Given the description of an element on the screen output the (x, y) to click on. 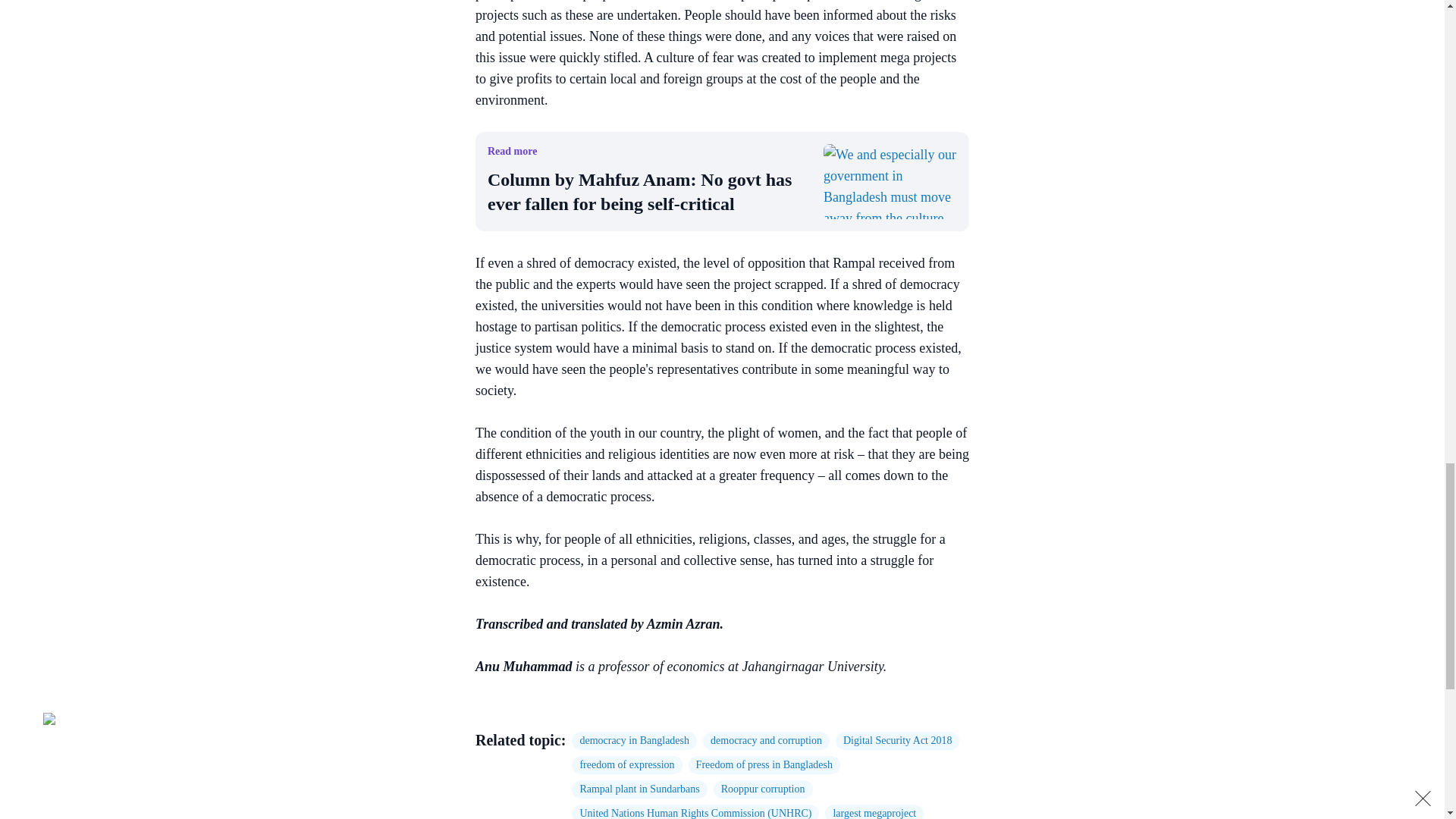
No government has ever fallen for being self-critical (890, 181)
